Given the description of an element on the screen output the (x, y) to click on. 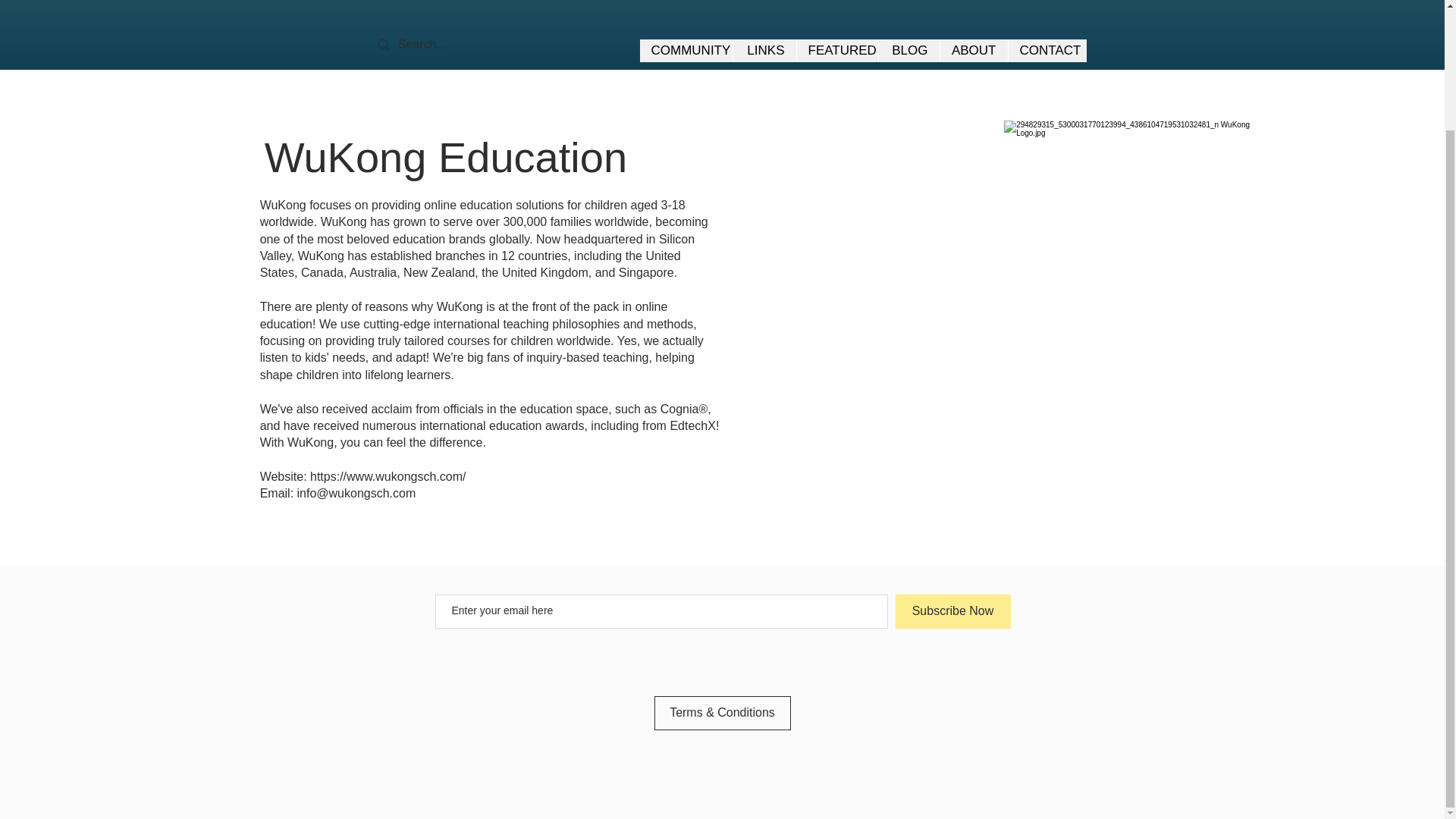
Subscribe Now (952, 611)
FEATURED (836, 50)
LINKS (764, 50)
COMMUNITY (686, 50)
CONTACT (1046, 50)
ABOUT (973, 50)
BLOG (908, 50)
